Given the description of an element on the screen output the (x, y) to click on. 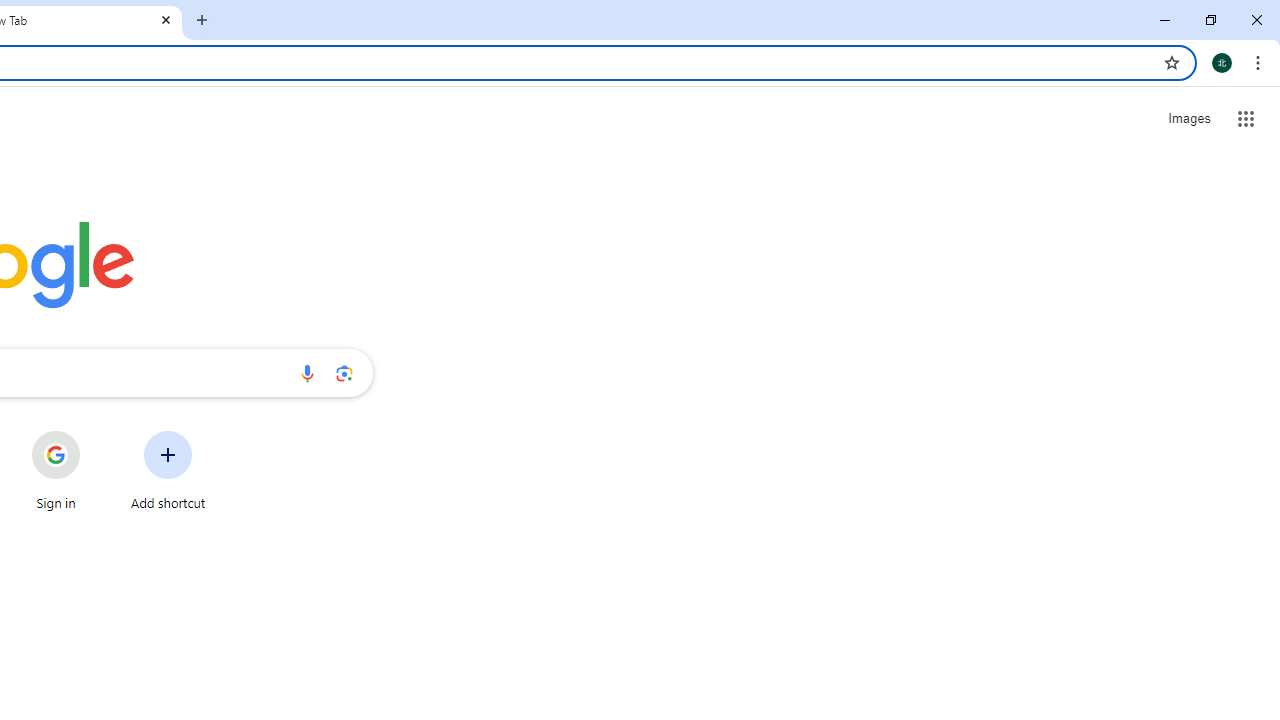
Restore (1210, 20)
Bookmark this tab (1171, 62)
Chrome (1260, 62)
Sign in (56, 470)
Google apps (1245, 118)
New Tab (202, 20)
Close (166, 19)
Minimize (1165, 20)
Search by voice (307, 372)
Search by image (344, 372)
More actions for Sign in shortcut (95, 433)
Add shortcut (168, 470)
Search for Images  (1188, 119)
